Given the description of an element on the screen output the (x, y) to click on. 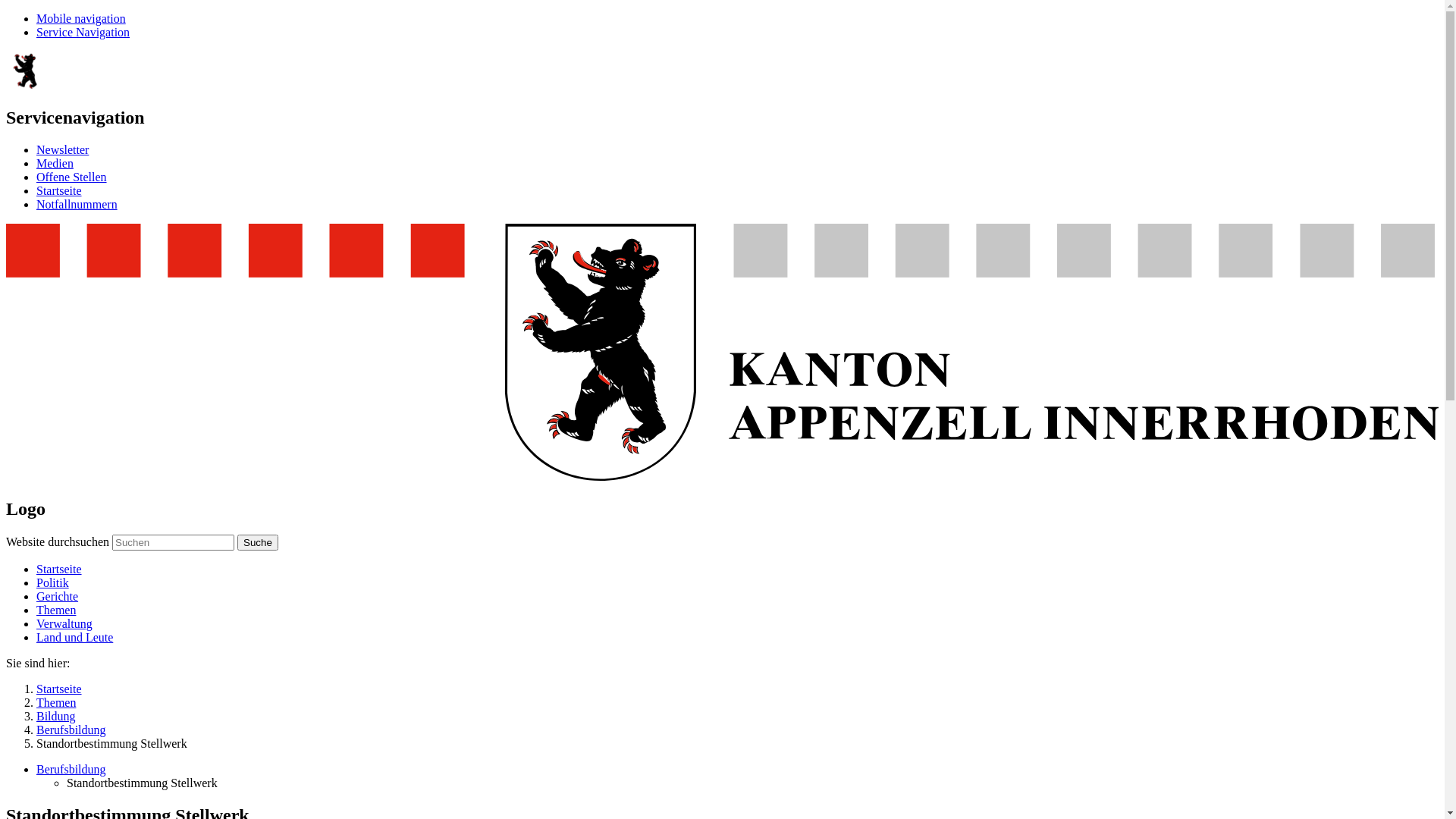
Verwaltung Element type: text (64, 623)
Newsletter Element type: text (62, 149)
Suchen Element type: hover (173, 542)
Service Navigation Element type: text (82, 31)
Notfallnummern Element type: text (76, 203)
Themen Element type: text (55, 702)
Bildung Element type: text (55, 715)
Mobile navigation Element type: text (80, 18)
Suche Element type: text (257, 542)
Startseite Element type: text (58, 568)
Berufsbildung Element type: text (71, 729)
Berufsbildung Element type: text (71, 768)
Standortbestimmung Stellwerk Element type: text (141, 782)
Startseite Element type: text (58, 190)
Themen Element type: text (55, 609)
Politik Element type: text (52, 582)
Medien Element type: text (54, 162)
Land und Leute Element type: text (74, 636)
Startseite Element type: text (58, 688)
Gerichte Element type: text (57, 595)
Offene Stellen Element type: text (71, 176)
